Given the description of an element on the screen output the (x, y) to click on. 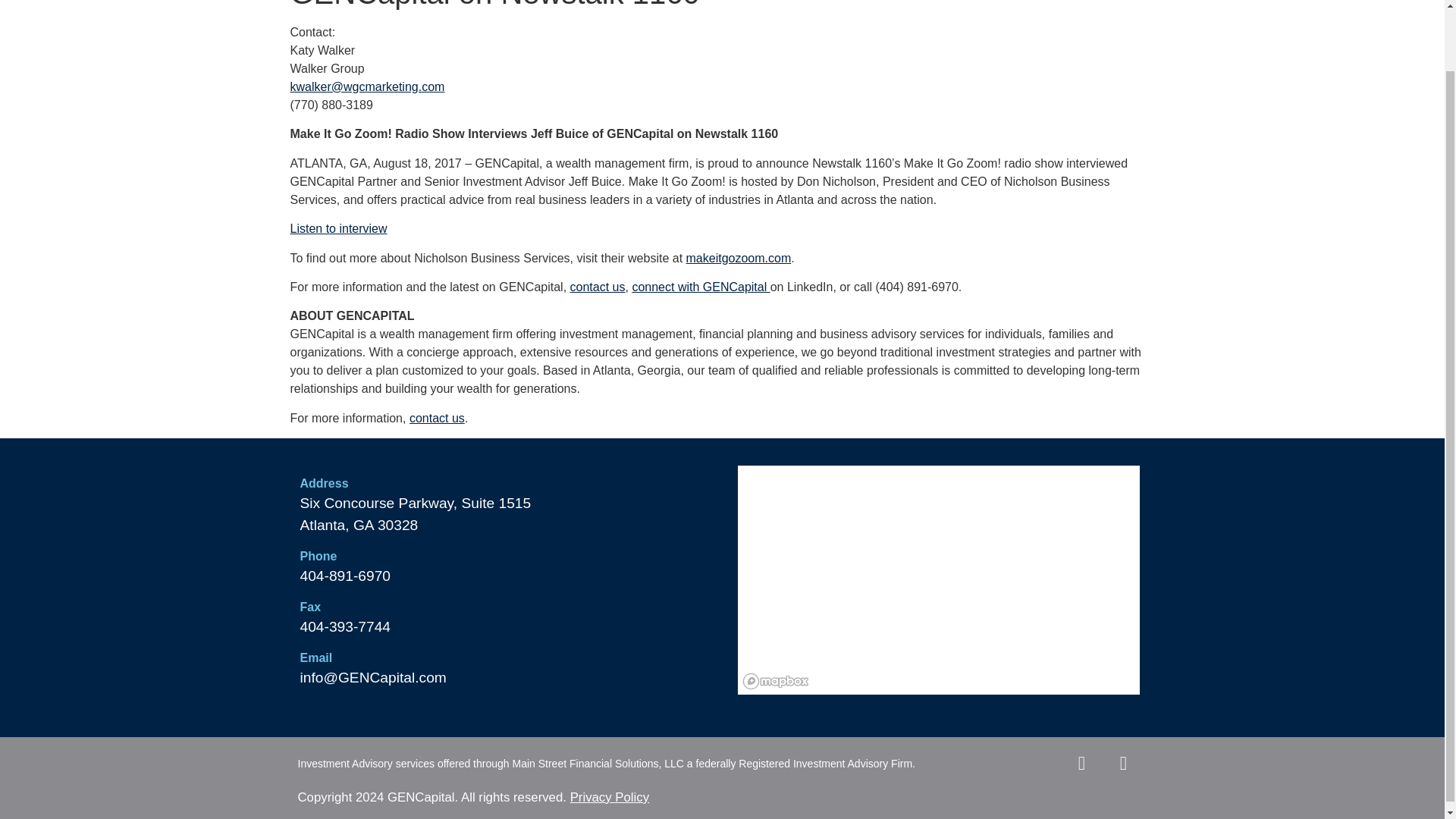
connect with GENCapital (700, 286)
404-393-7744 (345, 626)
Six Concourse Parkway, Suite 1515 (415, 503)
404-891-6970 (345, 575)
Main Street Financial Solutions, LLC (598, 763)
makeitgozoom.com (738, 257)
contact us (436, 418)
Listen to interview (338, 228)
contact us (598, 286)
 Privacy Policy (607, 797)
